Given the description of an element on the screen output the (x, y) to click on. 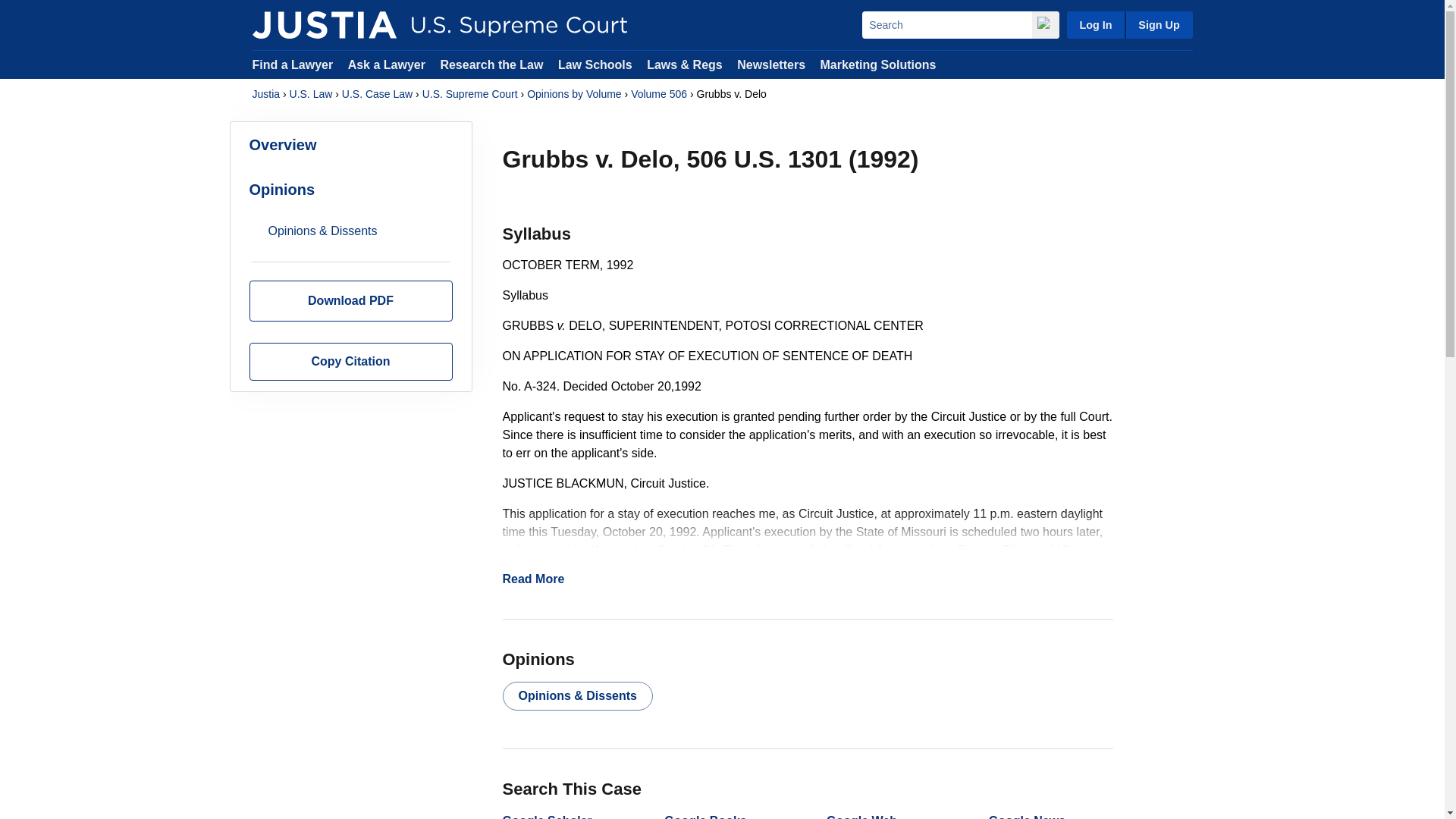
Justia (265, 93)
Law - Google Web (861, 816)
U.S. Law (311, 93)
U.S. Case Law (377, 93)
Law - Google Books (704, 816)
Ask a Lawyer (388, 64)
Opinions by Volume (574, 93)
Volume 506 (658, 93)
Research the Law (491, 64)
Search (945, 24)
